Given the description of an element on the screen output the (x, y) to click on. 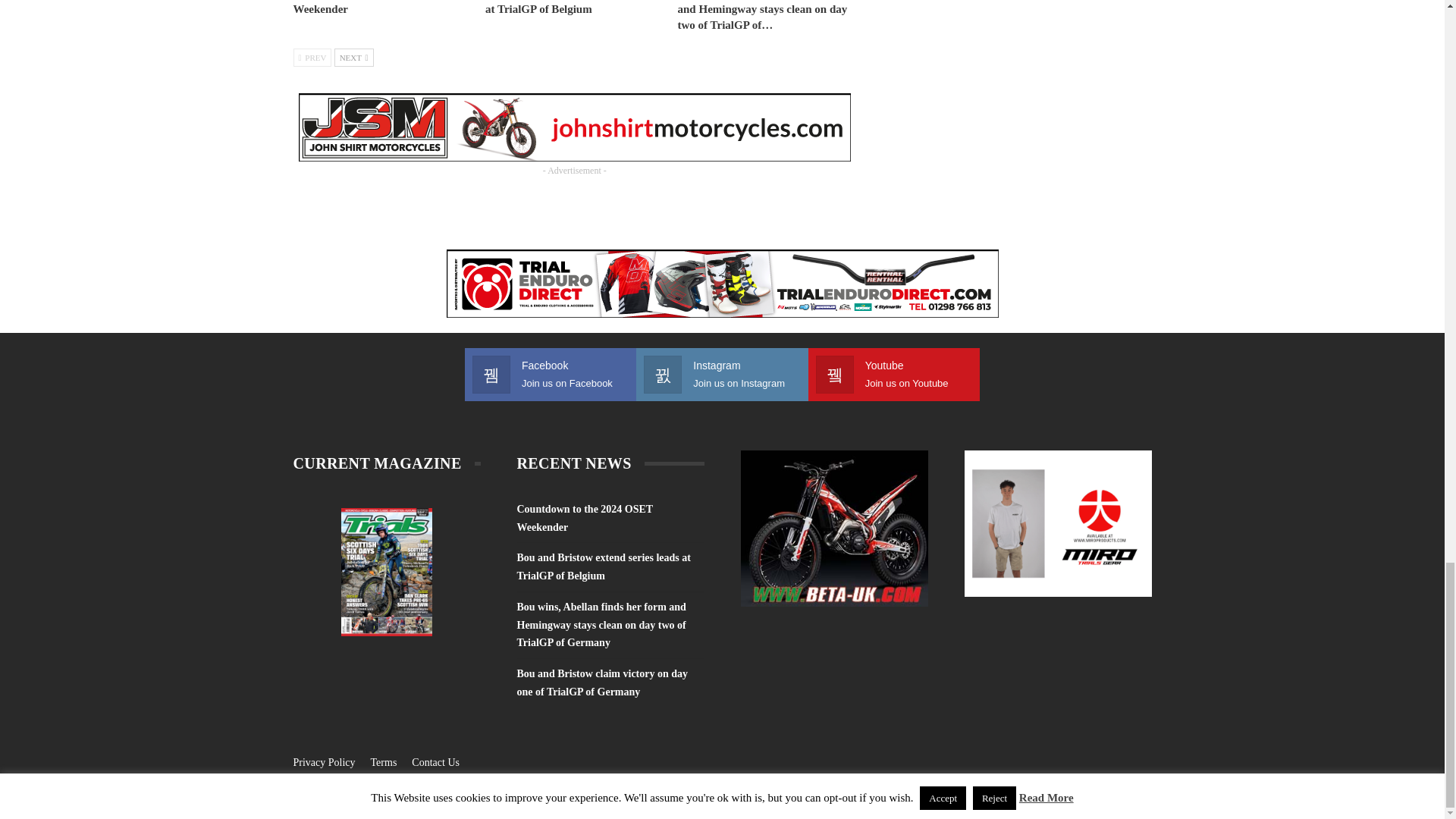
Countdown to the 2024 OSET Weekender (365, 7)
Next (354, 57)
Bou and Bristow extend series leads at TrialGP of Belgium (571, 7)
Previous (311, 57)
